Given the description of an element on the screen output the (x, y) to click on. 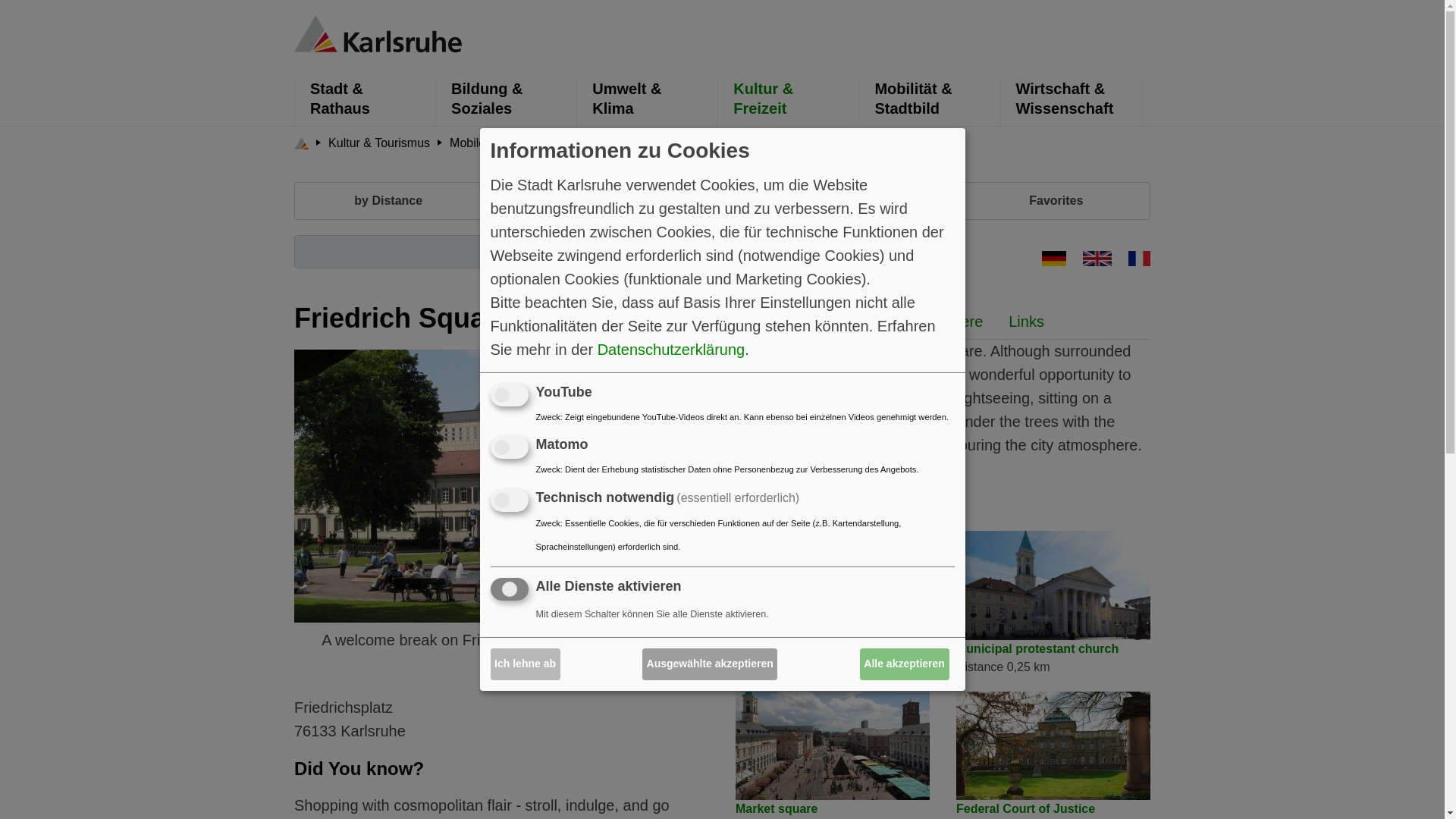
Info (760, 321)
Favorites (1056, 200)
Map (833, 200)
by Distance (387, 200)
Alphabetically (610, 200)
Details (822, 321)
Hauptseite (377, 32)
